Given the description of an element on the screen output the (x, y) to click on. 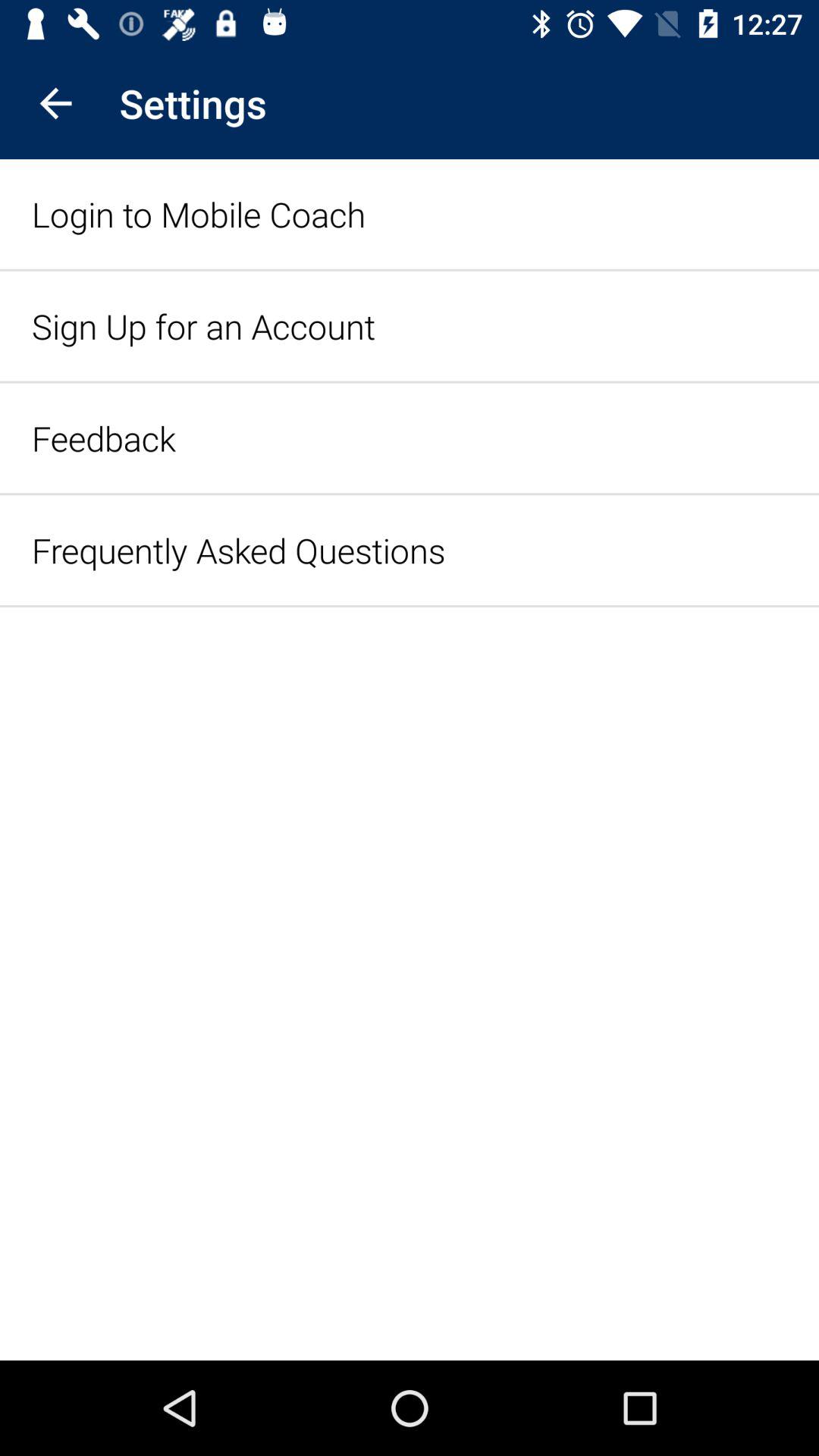
choose item below the feedback item (238, 550)
